Given the description of an element on the screen output the (x, y) to click on. 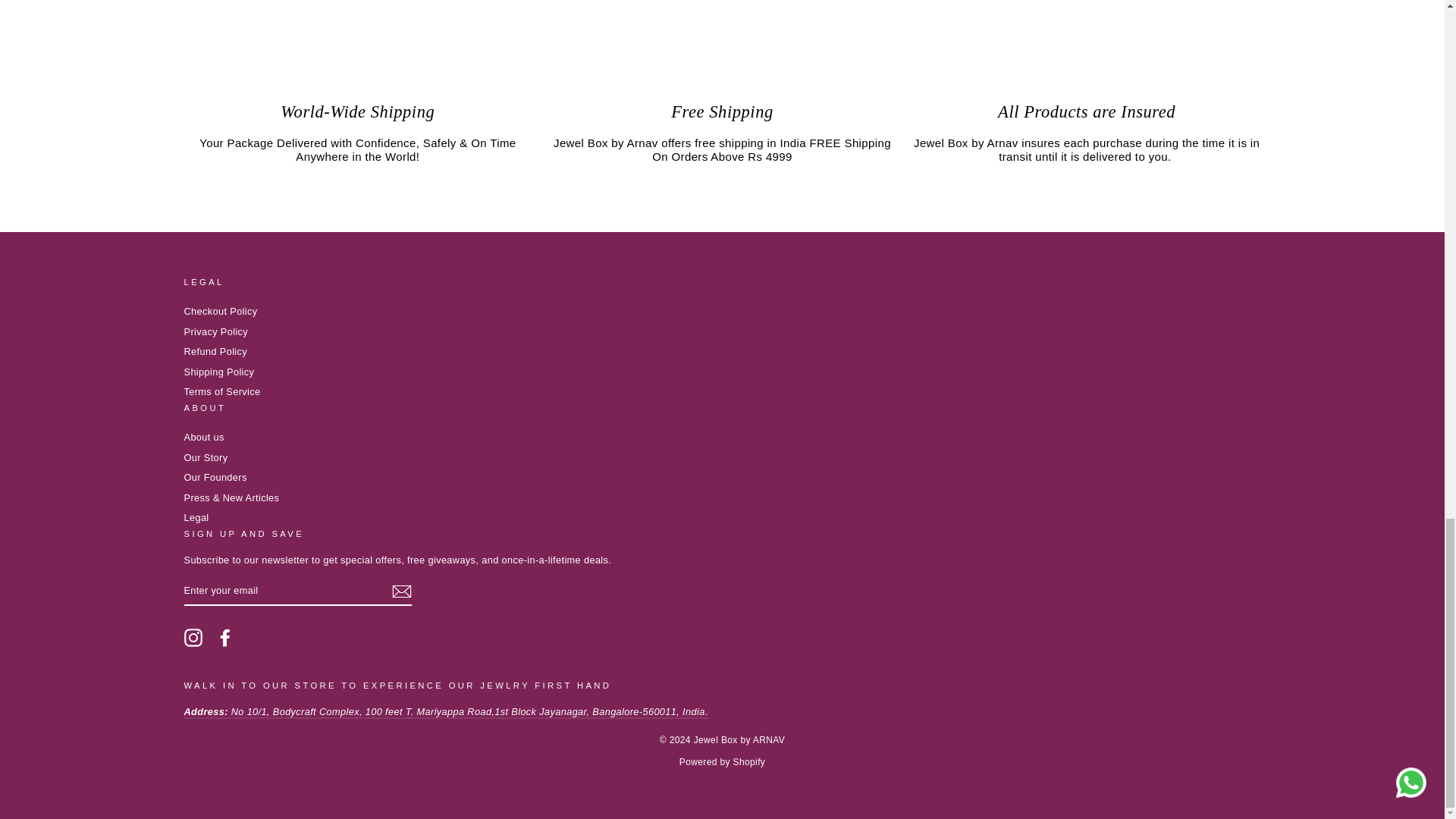
Jewelbox store address (445, 712)
Jewel Box by ARNAV  on Facebook (224, 637)
Jewel Box by ARNAV  on Instagram (192, 637)
